Given the description of an element on the screen output the (x, y) to click on. 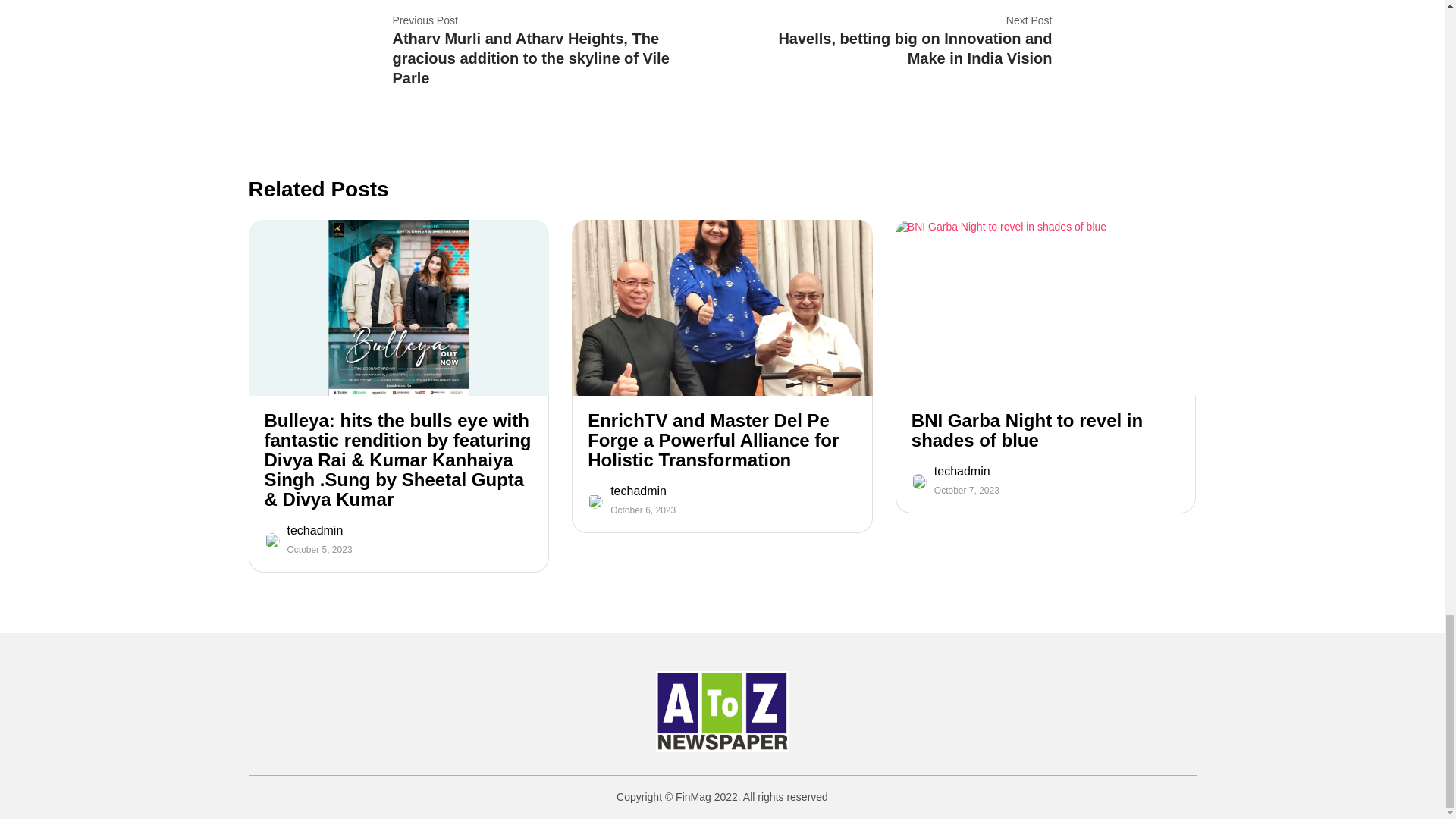
techadmin (966, 471)
techadmin (642, 491)
techadmin (319, 530)
Havells, betting big on Innovation and Make in India Vision (897, 47)
BNI Garba Night to revel in shades of blue (1045, 430)
